Given the description of an element on the screen output the (x, y) to click on. 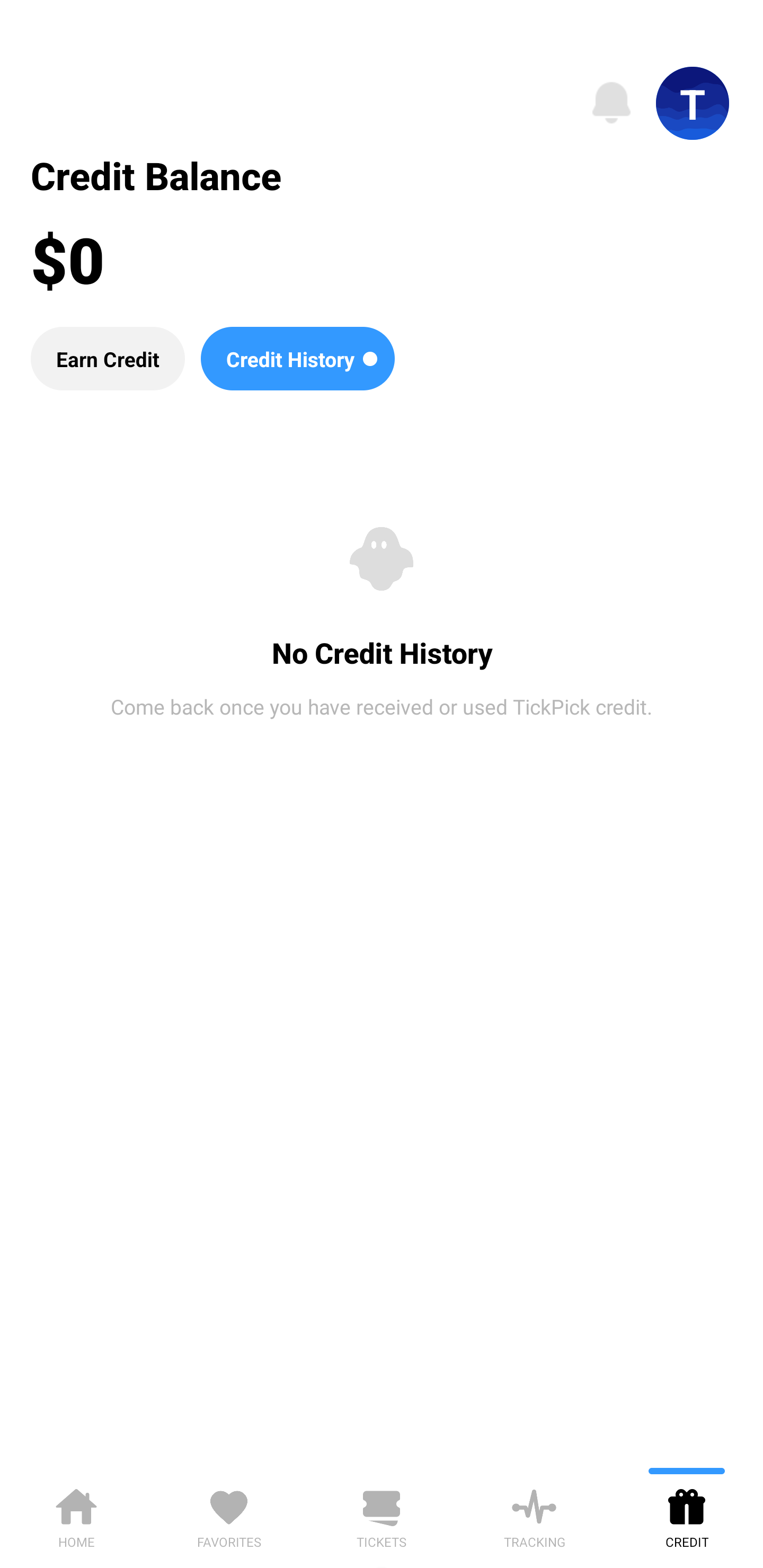
T (692, 103)
Earn Credit (107, 358)
Credit History (297, 358)
HOME (76, 1515)
FAVORITES (228, 1515)
TICKETS (381, 1515)
TRACKING (533, 1515)
CREDIT (686, 1515)
